Given the description of an element on the screen output the (x, y) to click on. 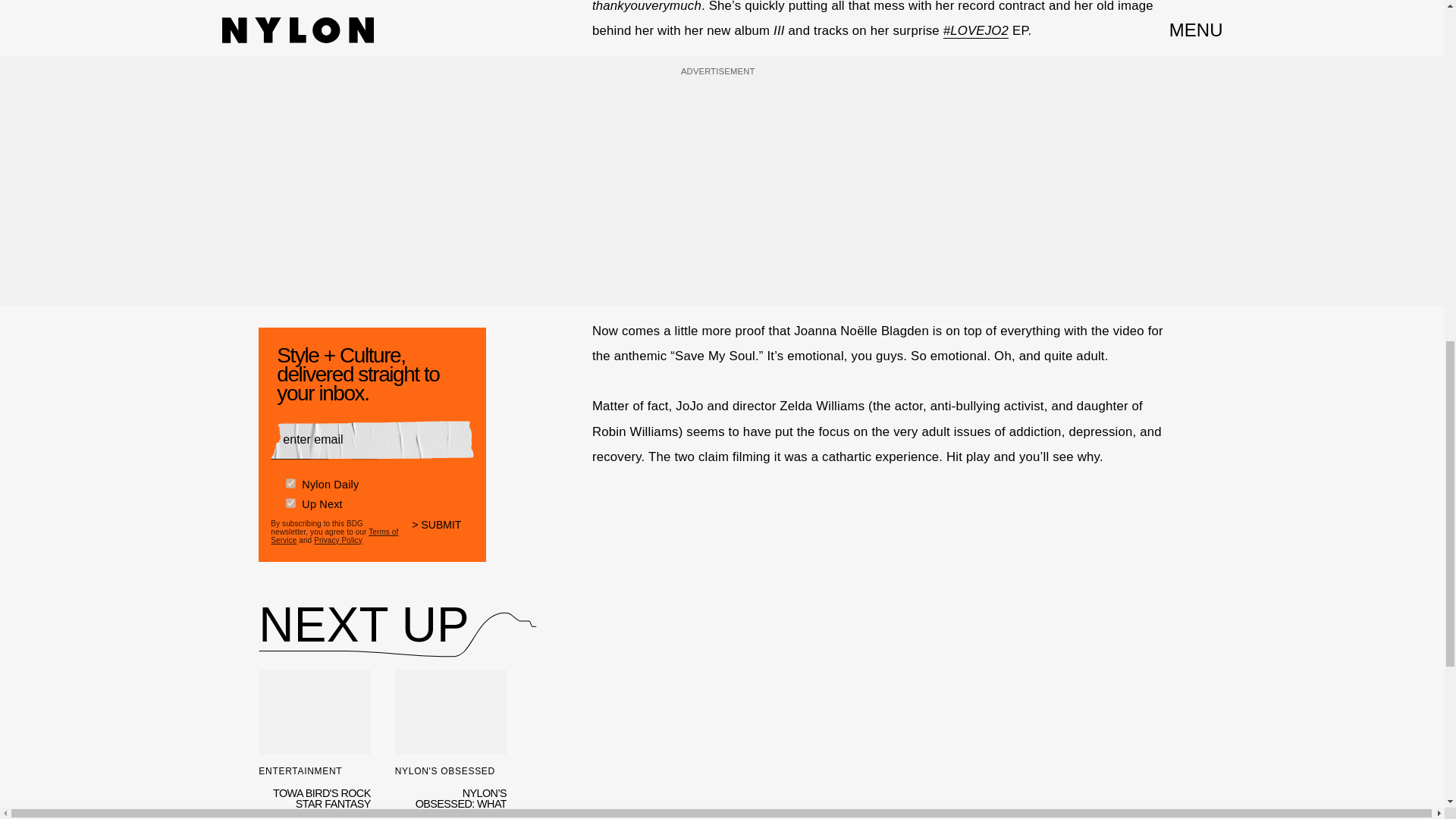
SUBMIT (443, 529)
Privacy Policy (338, 537)
Terms of Service (333, 532)
